Given the description of an element on the screen output the (x, y) to click on. 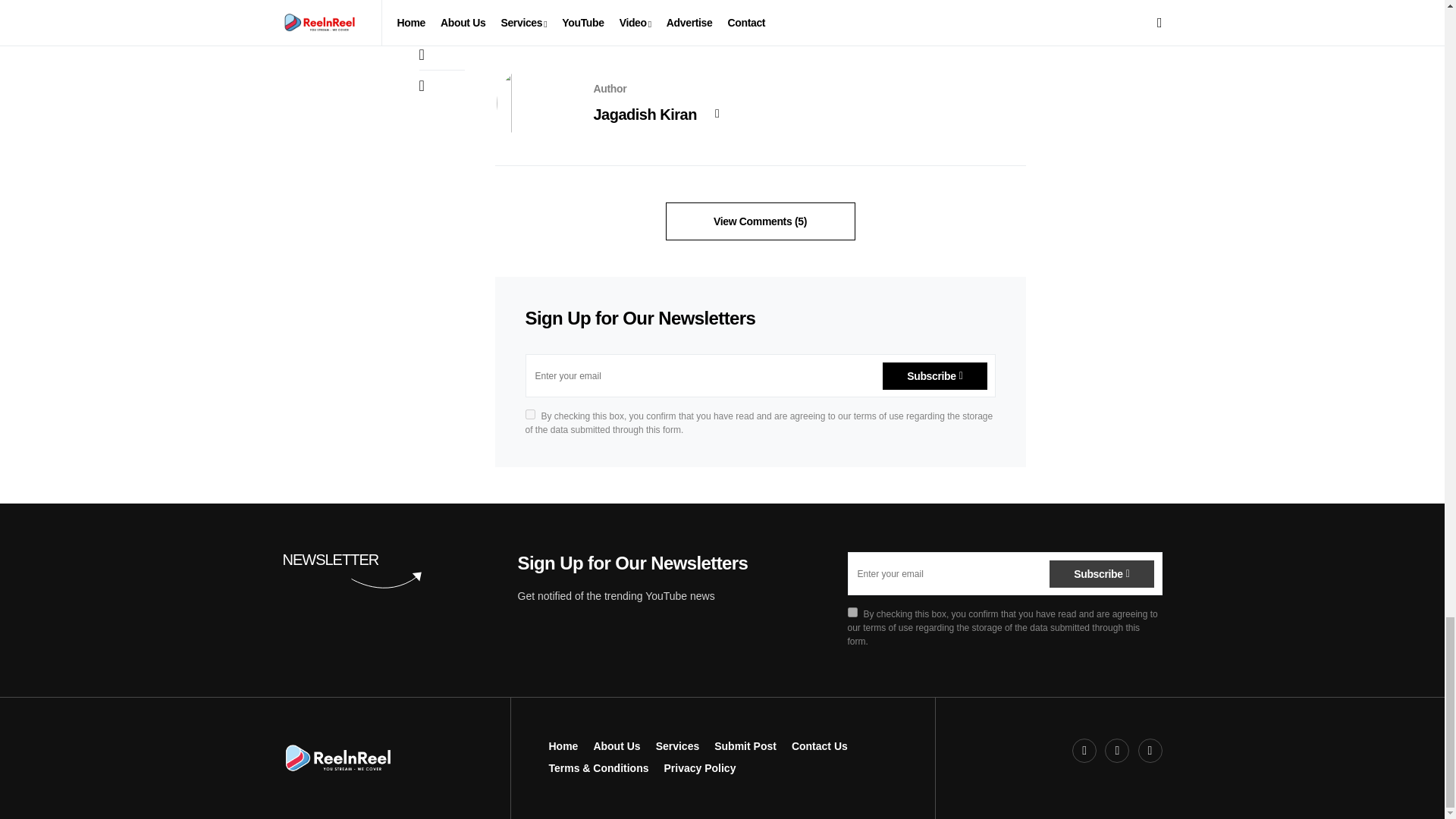
on (852, 612)
on (529, 414)
